Given the description of an element on the screen output the (x, y) to click on. 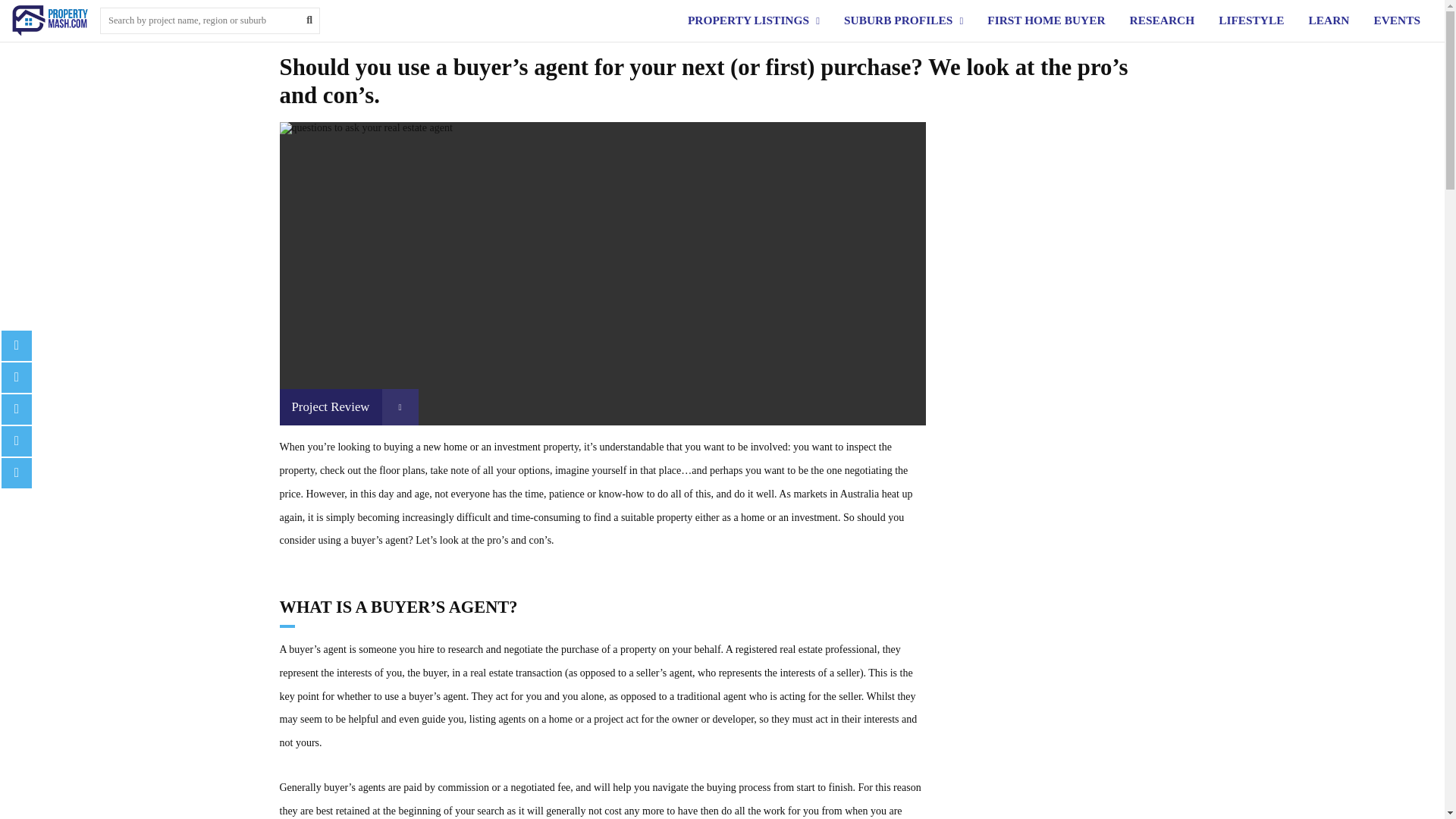
LIFESTYLE (1251, 19)
LEARN (1328, 19)
Project Review (348, 407)
PROPERTY LISTINGS (748, 19)
FIRST HOME BUYER (1046, 19)
SUBURB PROFILES (898, 19)
RESEARCH (1162, 19)
EVENTS (1397, 19)
